Given the description of an element on the screen output the (x, y) to click on. 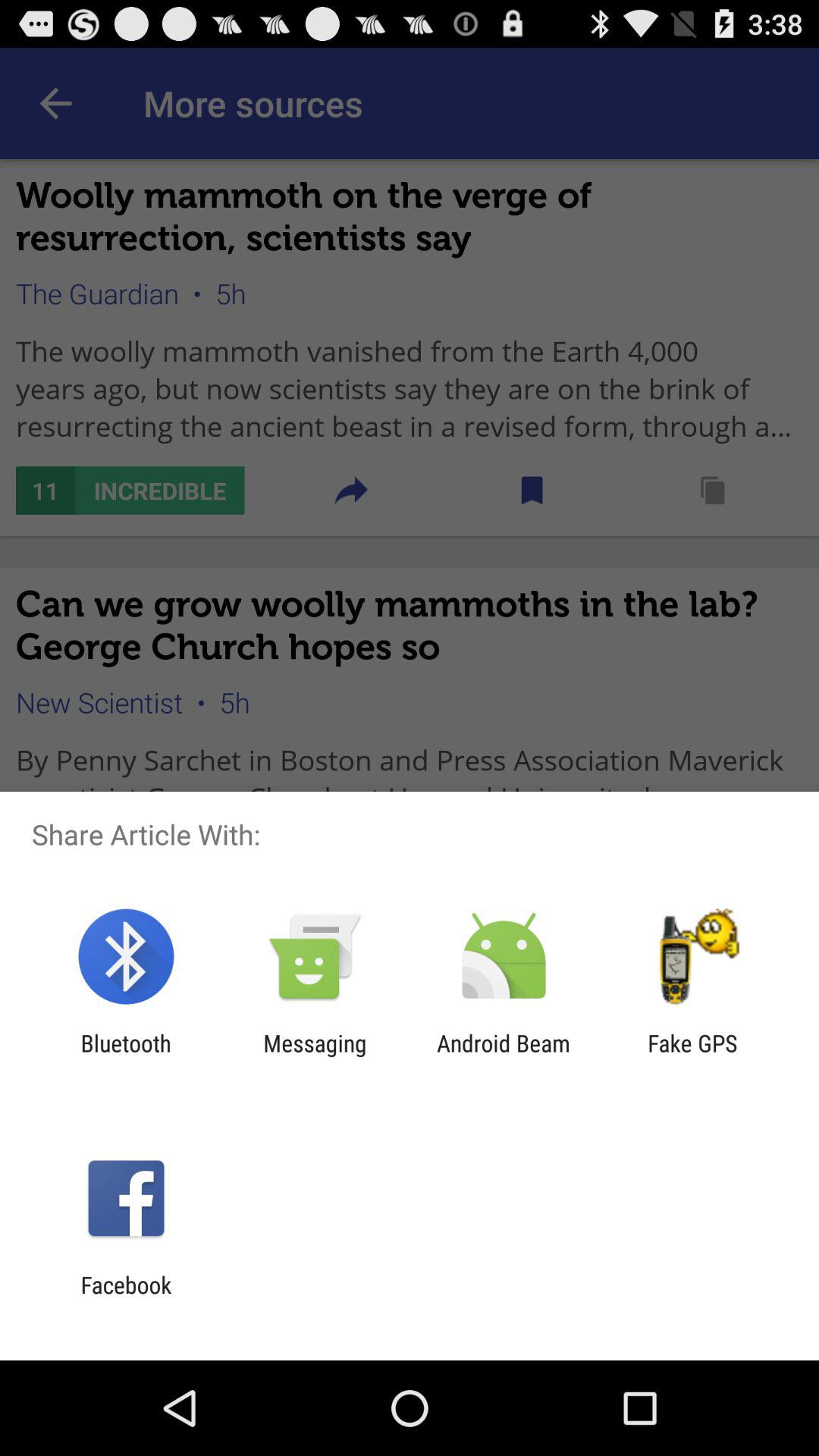
tap the item next to the messaging icon (125, 1056)
